Given the description of an element on the screen output the (x, y) to click on. 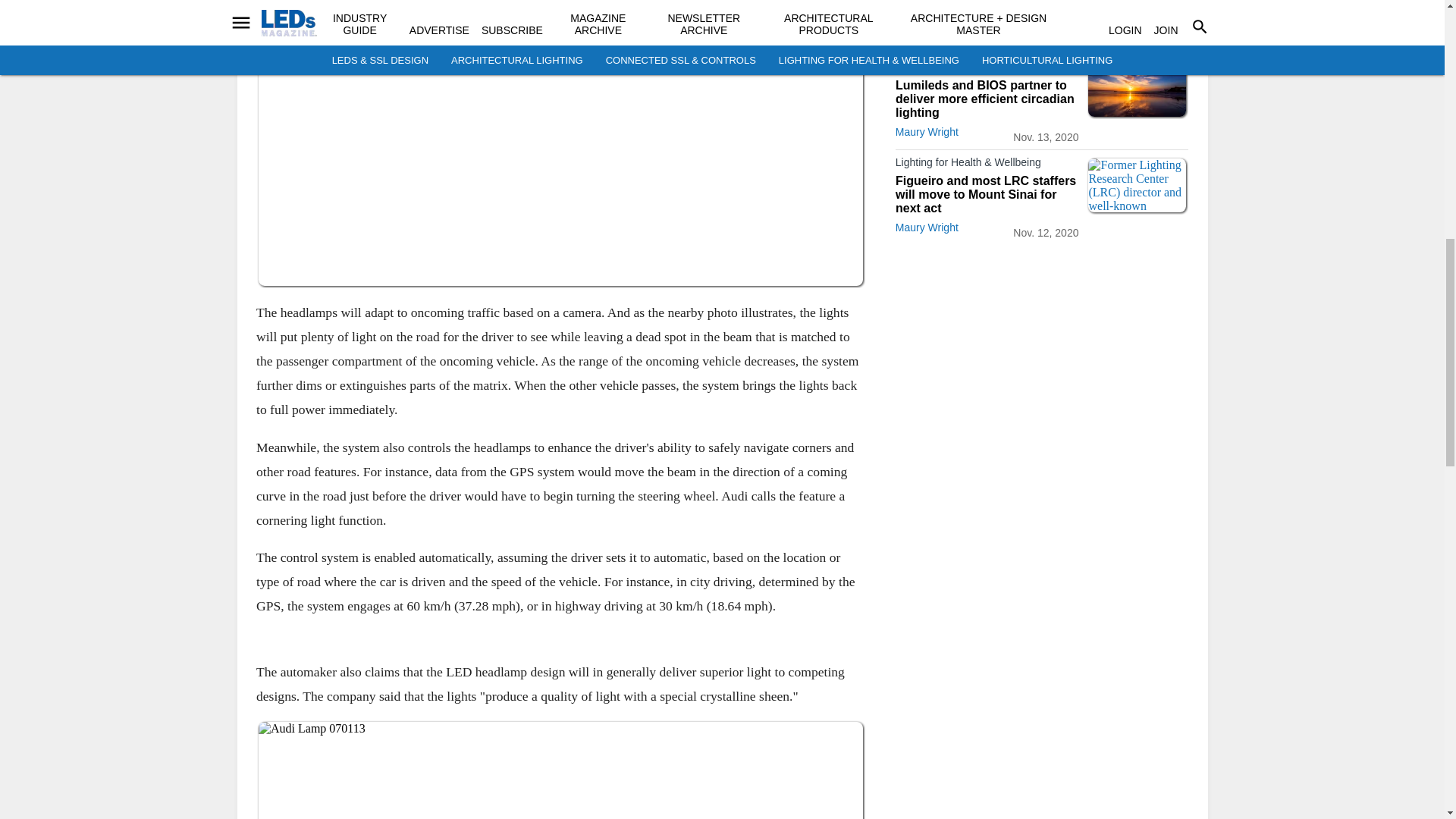
Audi Lamp 070113 (559, 770)
